Given the description of an element on the screen output the (x, y) to click on. 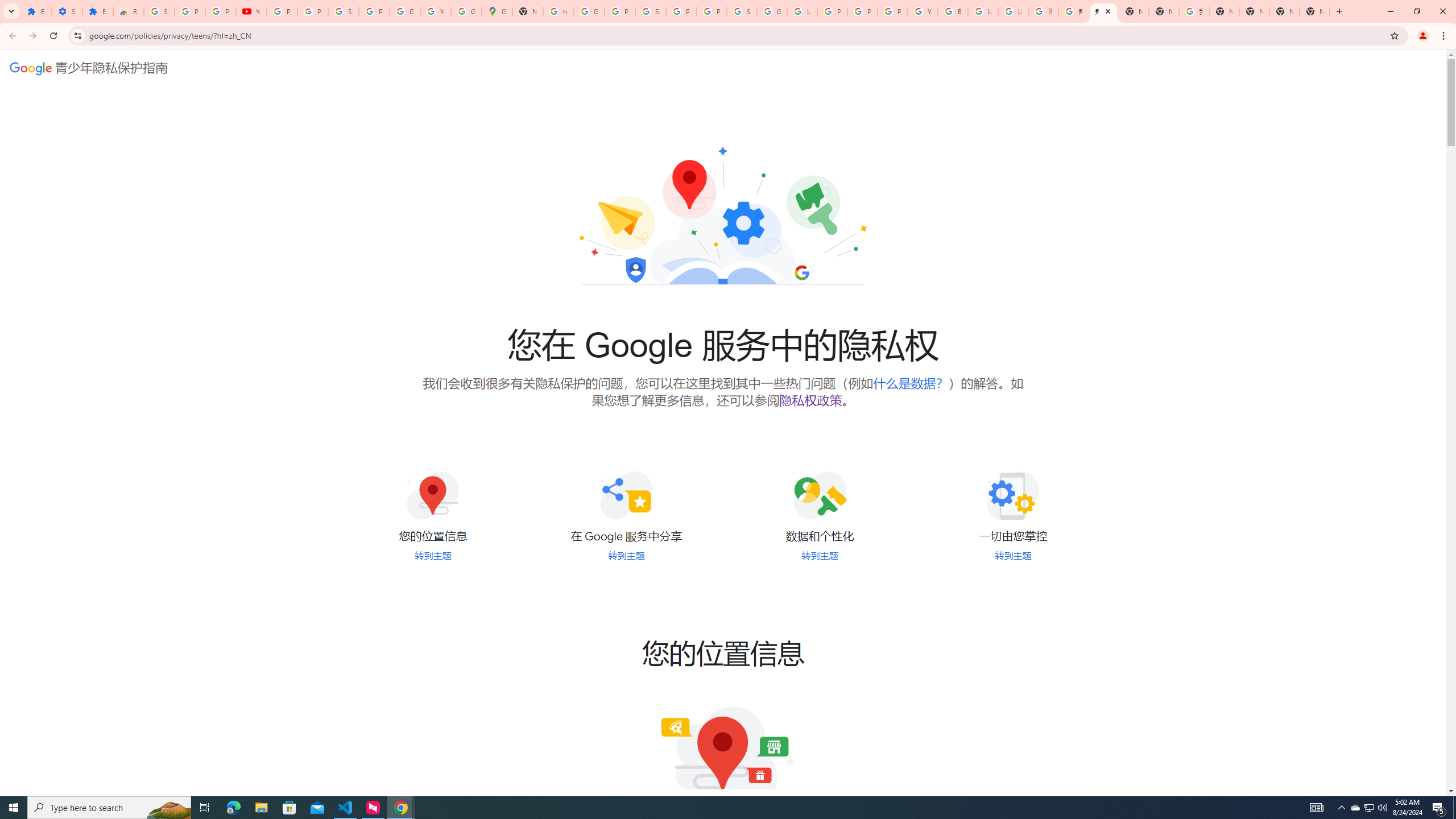
Extensions (36, 11)
Reviews: Helix Fruit Jump Arcade Game (127, 11)
YouTube (251, 11)
Privacy Help Center - Policies Help (862, 11)
New Tab (1133, 11)
